Given the description of an element on the screen output the (x, y) to click on. 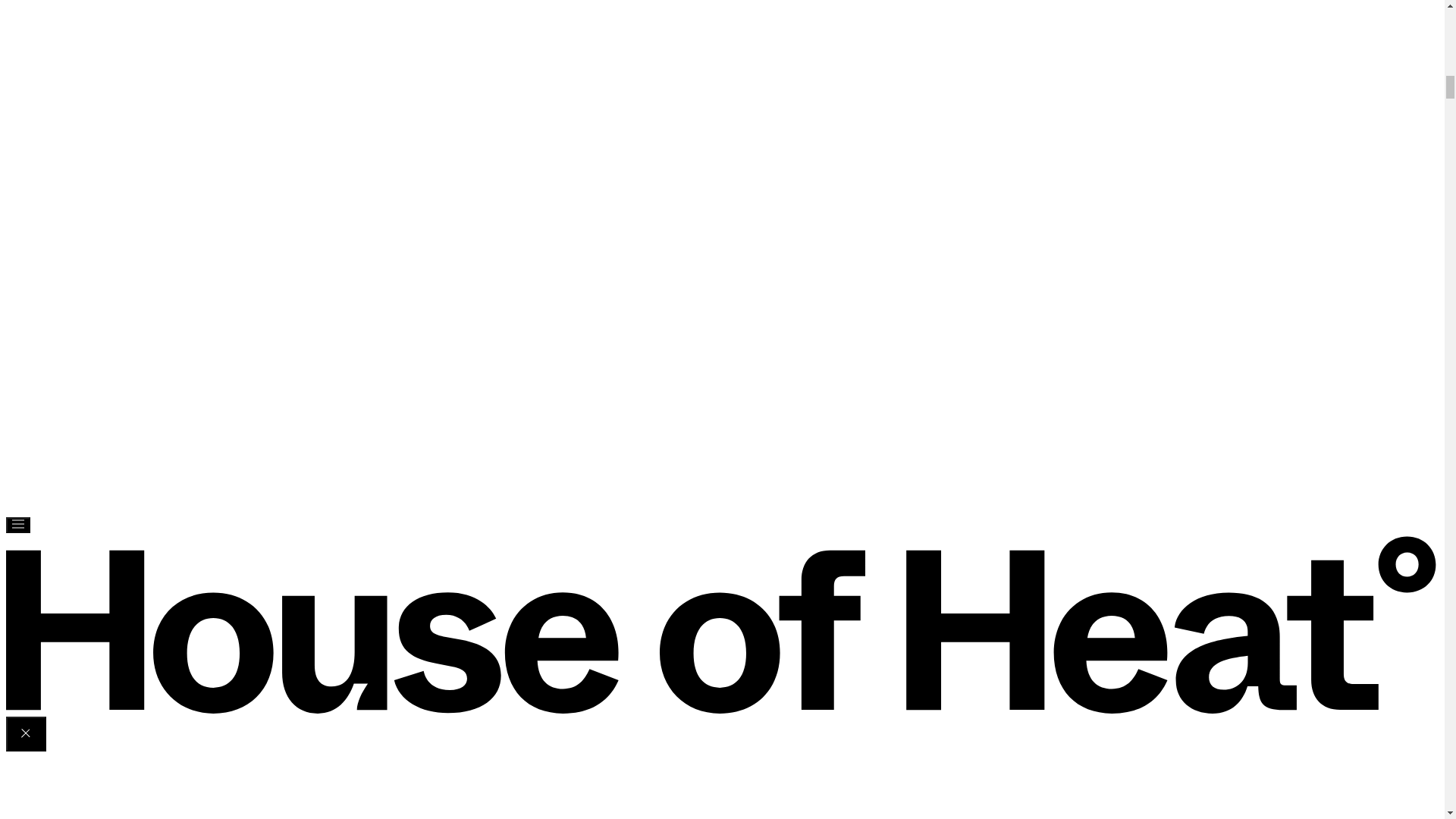
Close Dialog (25, 733)
Open Menu (17, 524)
